Given the description of an element on the screen output the (x, y) to click on. 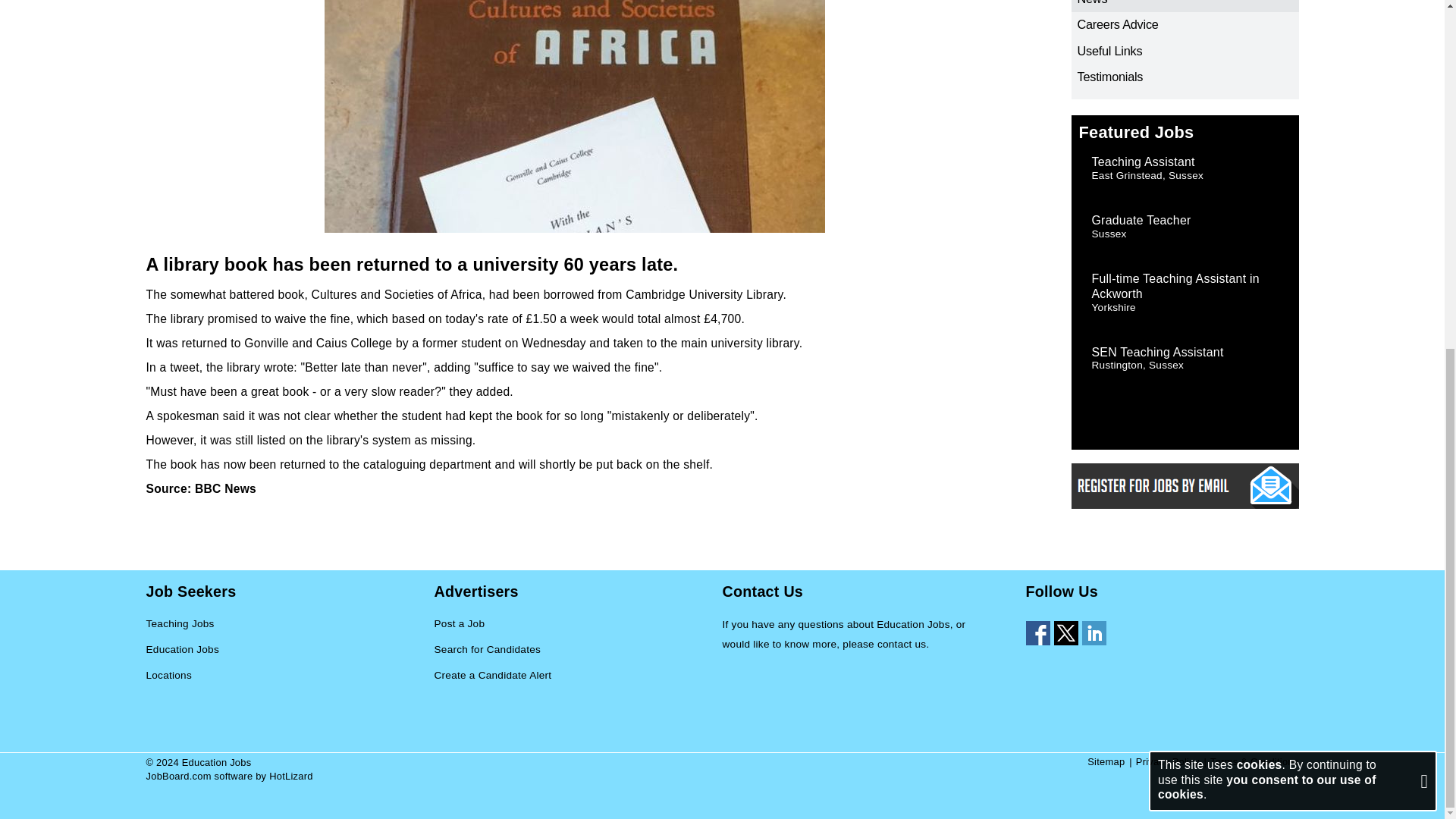
Graduate Teacher (1141, 219)
Useful Links (1184, 51)
News (1184, 6)
Full-time Teaching Assistant in Ackworth (1175, 285)
Graduate Teacher (1141, 219)
Testimonials (1184, 77)
Post a Job (458, 624)
Create a Candidate Alert (492, 676)
Careers Advice (1184, 24)
Full-time Teaching Assistant in Ackworth (1175, 285)
Search for Candidates (486, 650)
Locations (167, 676)
SEN Teaching Assistant (1158, 351)
Teaching Jobs (179, 624)
Education Jobs (181, 650)
